Given the description of an element on the screen output the (x, y) to click on. 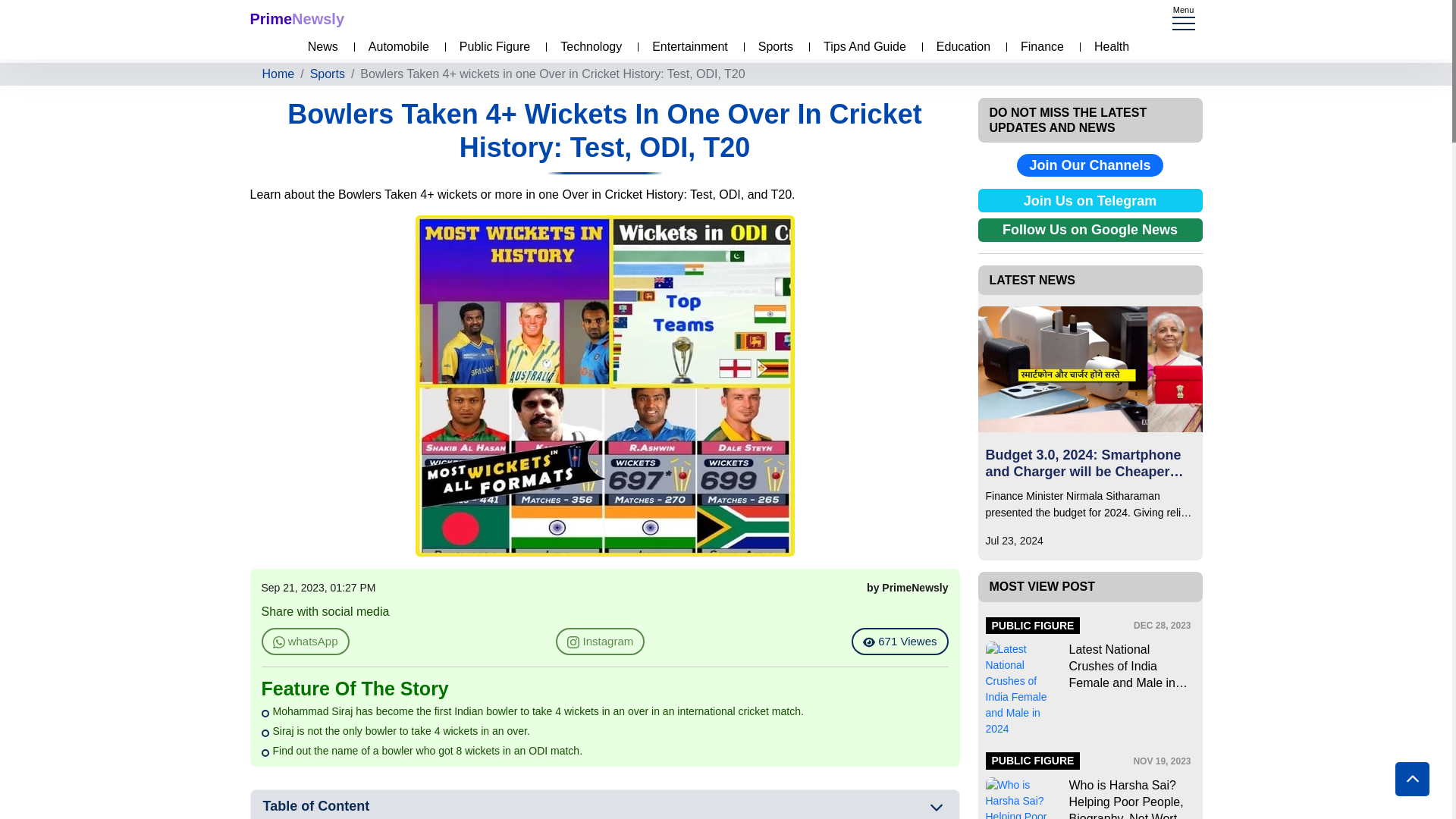
Education (959, 46)
Health (1107, 46)
Entertainment (686, 46)
Join Us on Telegram (1090, 200)
Automobile (395, 46)
PrimeNewsly (297, 18)
Sports (327, 74)
Home (278, 74)
Follow Us on Google News (1090, 229)
Sports (772, 46)
PUBLIC FIGURE (1032, 625)
News (318, 46)
whatsApp (304, 642)
Latest National Crushes of India Female and Male in 2024 (1129, 666)
News (318, 46)
